Given the description of an element on the screen output the (x, y) to click on. 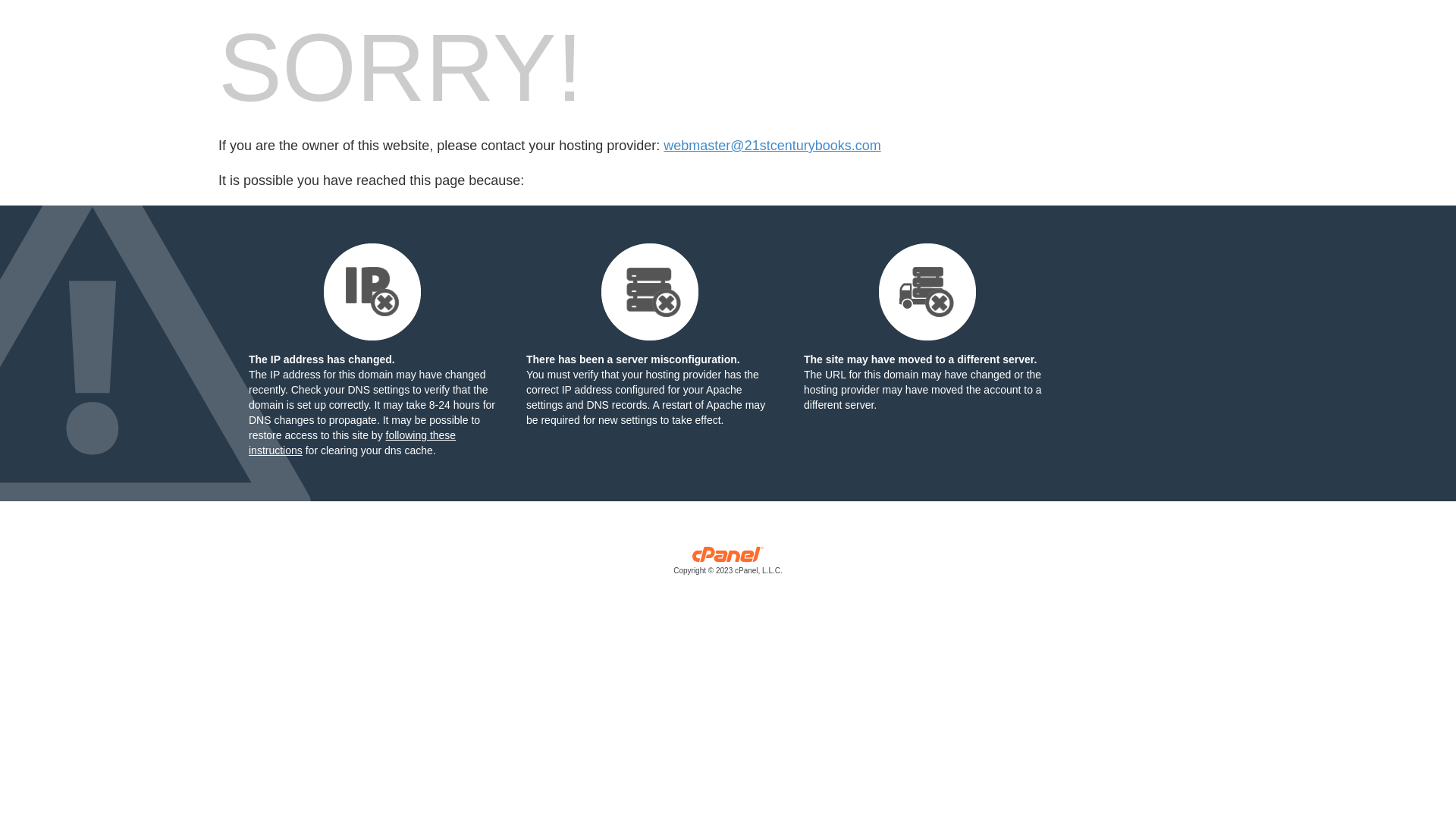
following these instructions Element type: text (351, 442)
webmaster@21stcenturybooks.com Element type: text (771, 145)
